Given the description of an element on the screen output the (x, y) to click on. 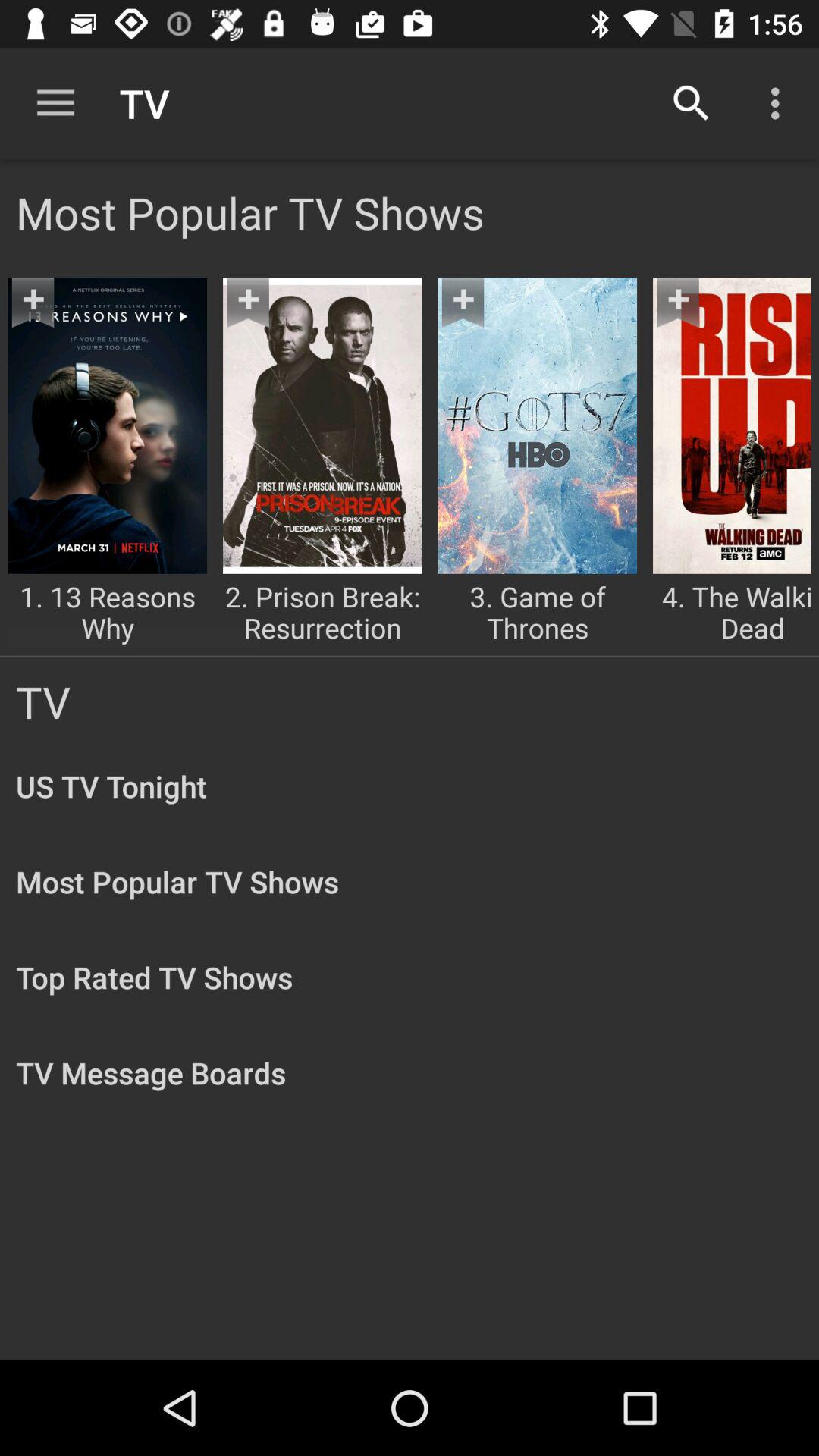
launch app next to the tv icon (55, 103)
